Given the description of an element on the screen output the (x, y) to click on. 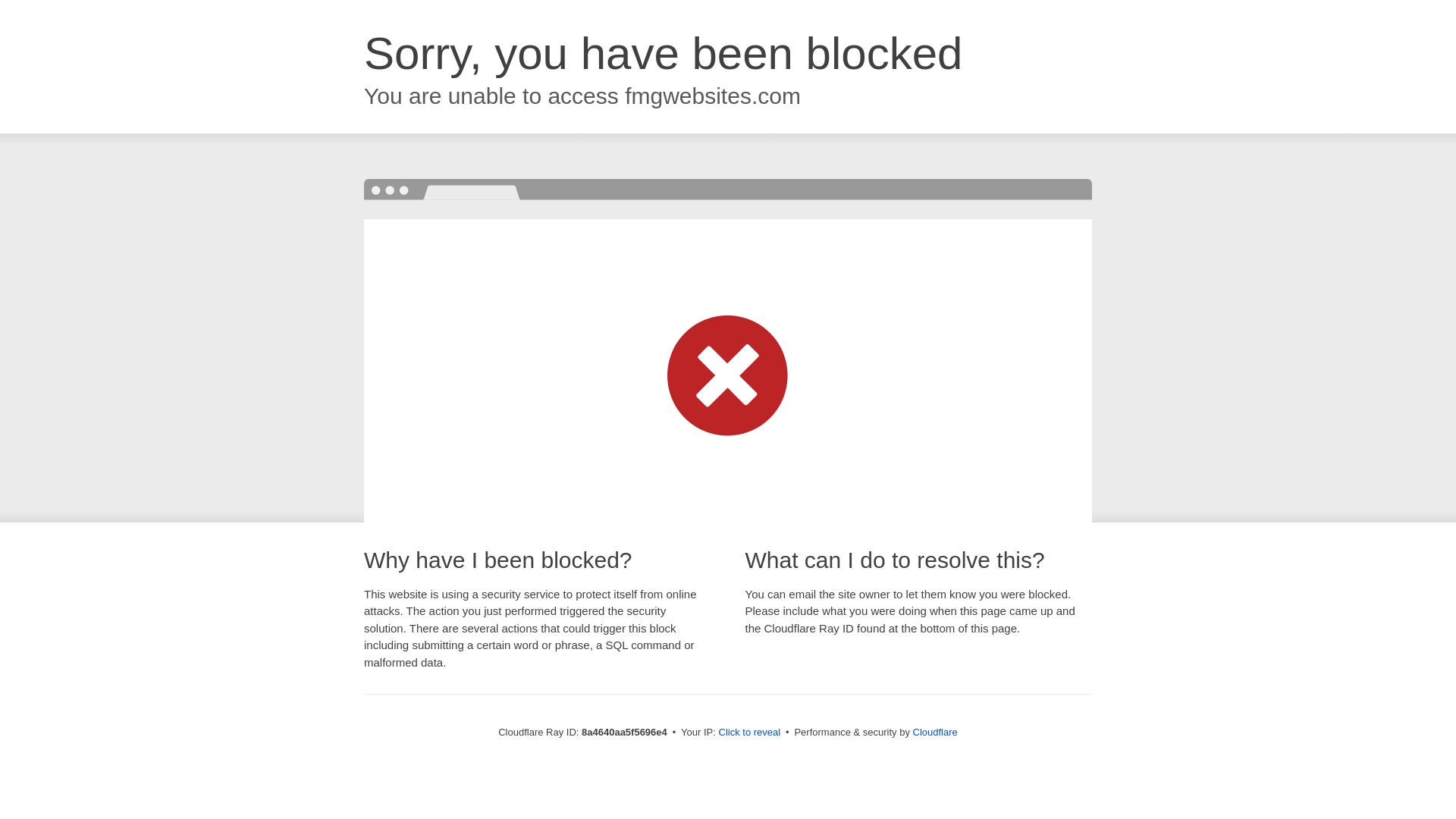
Cloudflare (935, 731)
Click to reveal (749, 732)
